Given the description of an element on the screen output the (x, y) to click on. 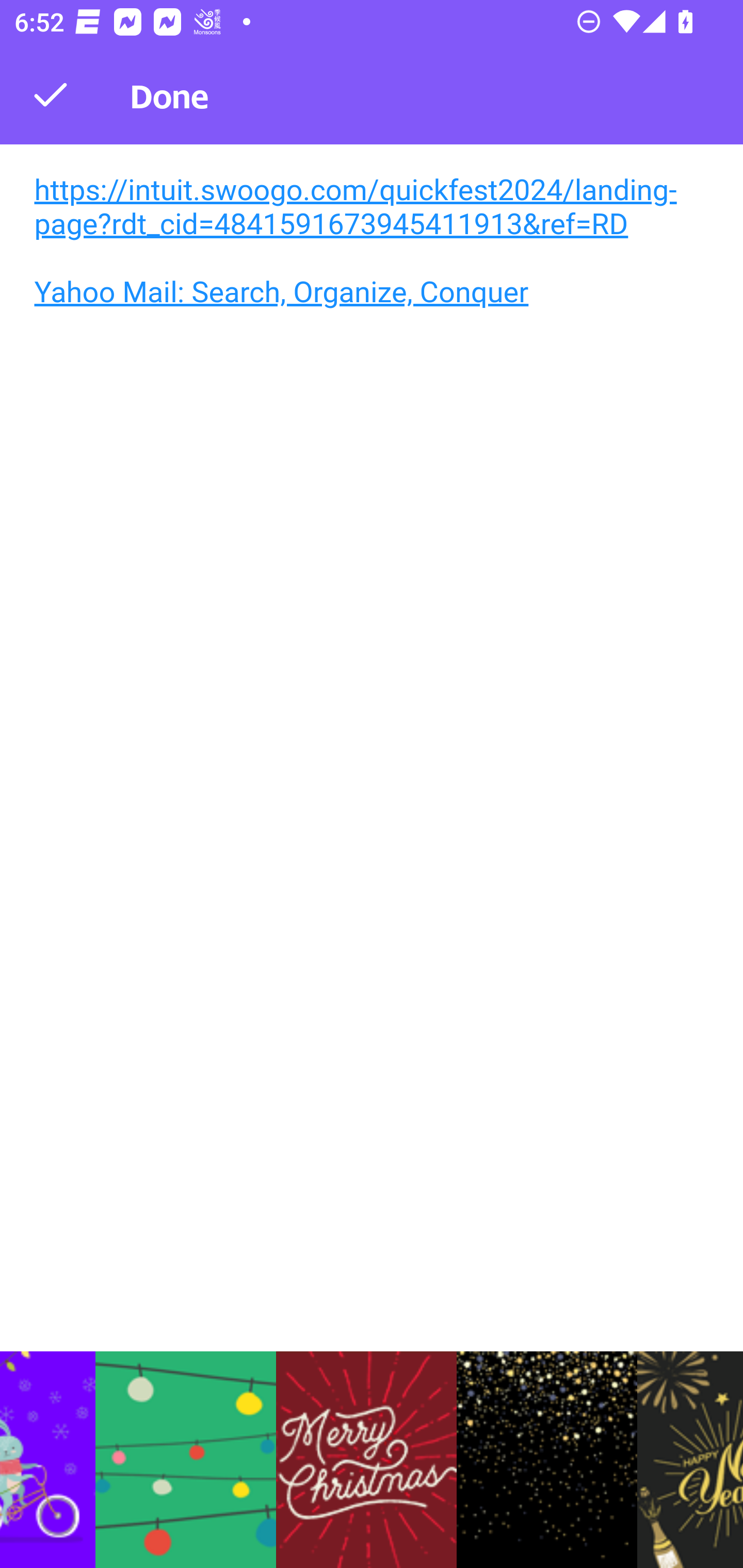
Done selecting stationery theme (50, 93)
Popup Ornaments (185, 1459)
Merry Christmas (366, 1459)
Gatsby Confetti (546, 1459)
